Given the description of an element on the screen output the (x, y) to click on. 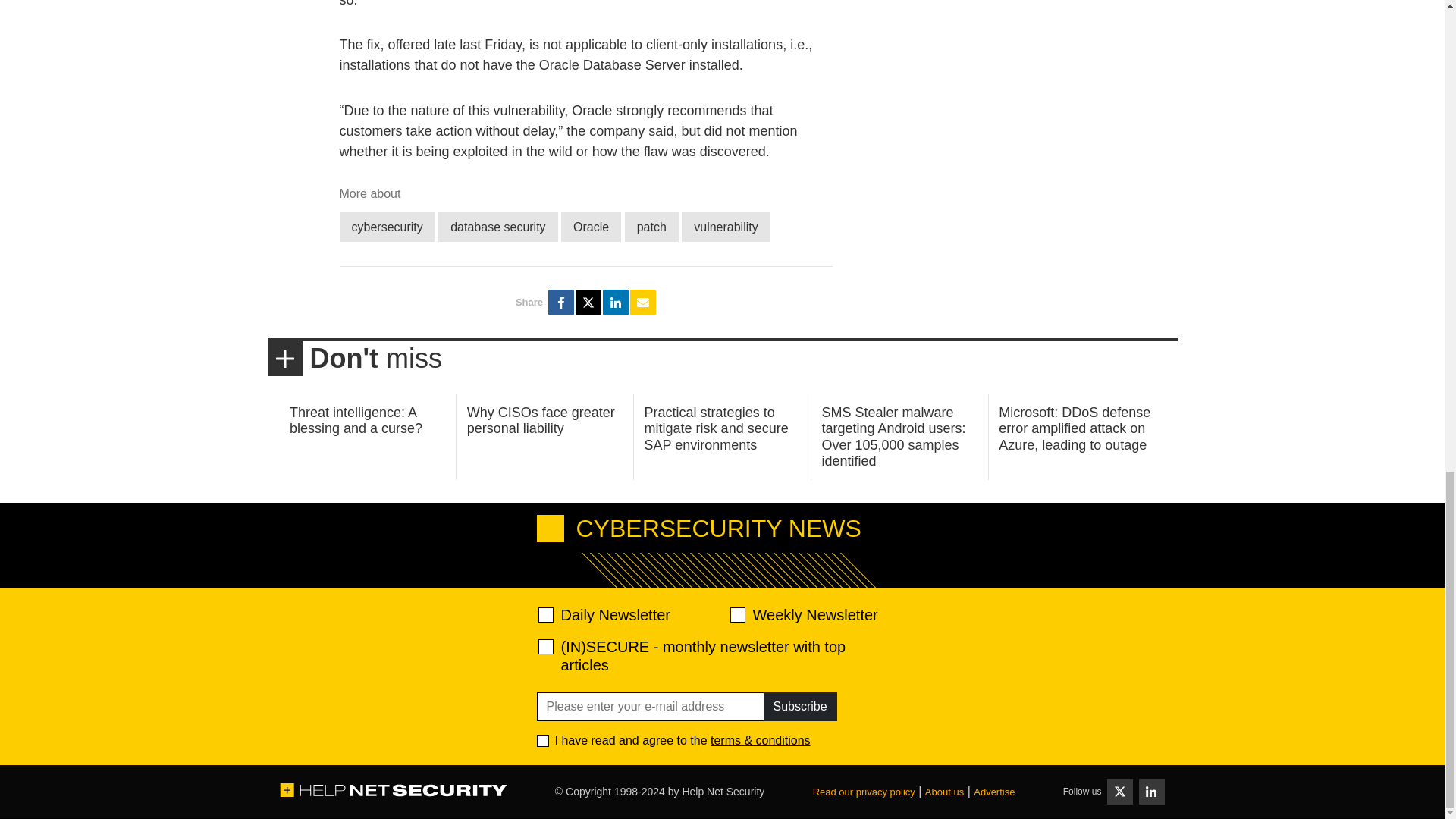
Oracle (590, 226)
vulnerability (725, 226)
Oracle (590, 226)
patch (651, 226)
patch (651, 226)
1 (542, 740)
cybersecurity (387, 226)
database security (497, 226)
database security (497, 226)
vulnerability (725, 226)
520ac2f639 (545, 614)
28abe5d9ef (545, 646)
cybersecurity (387, 226)
